Given the description of an element on the screen output the (x, y) to click on. 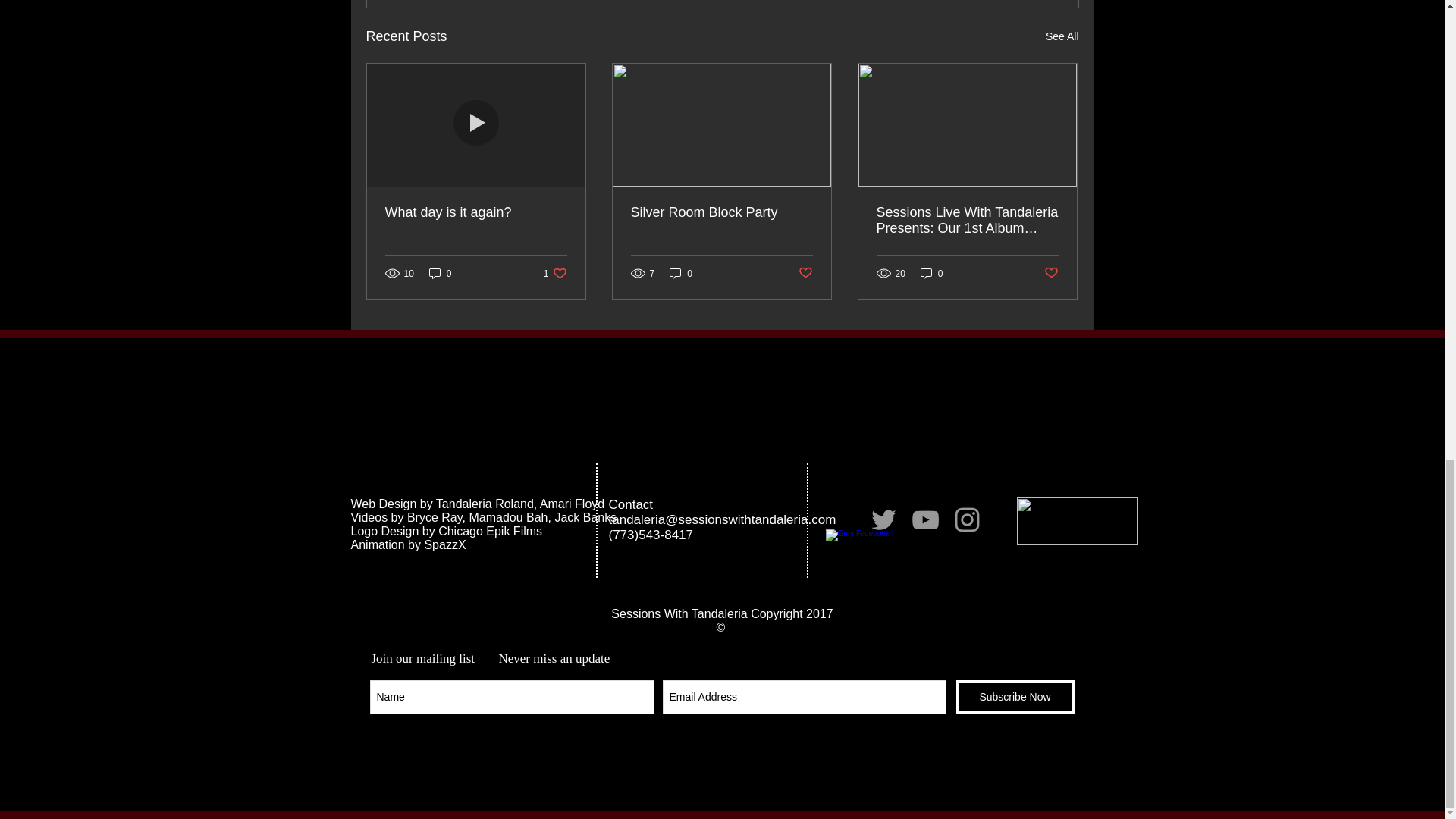
Silver Room Block Party (721, 212)
See All (1061, 36)
0 (931, 273)
Post not marked as liked (804, 273)
Post not marked as liked (1050, 273)
What day is it again? (555, 273)
0 (476, 212)
0 (681, 273)
